Given the description of an element on the screen output the (x, y) to click on. 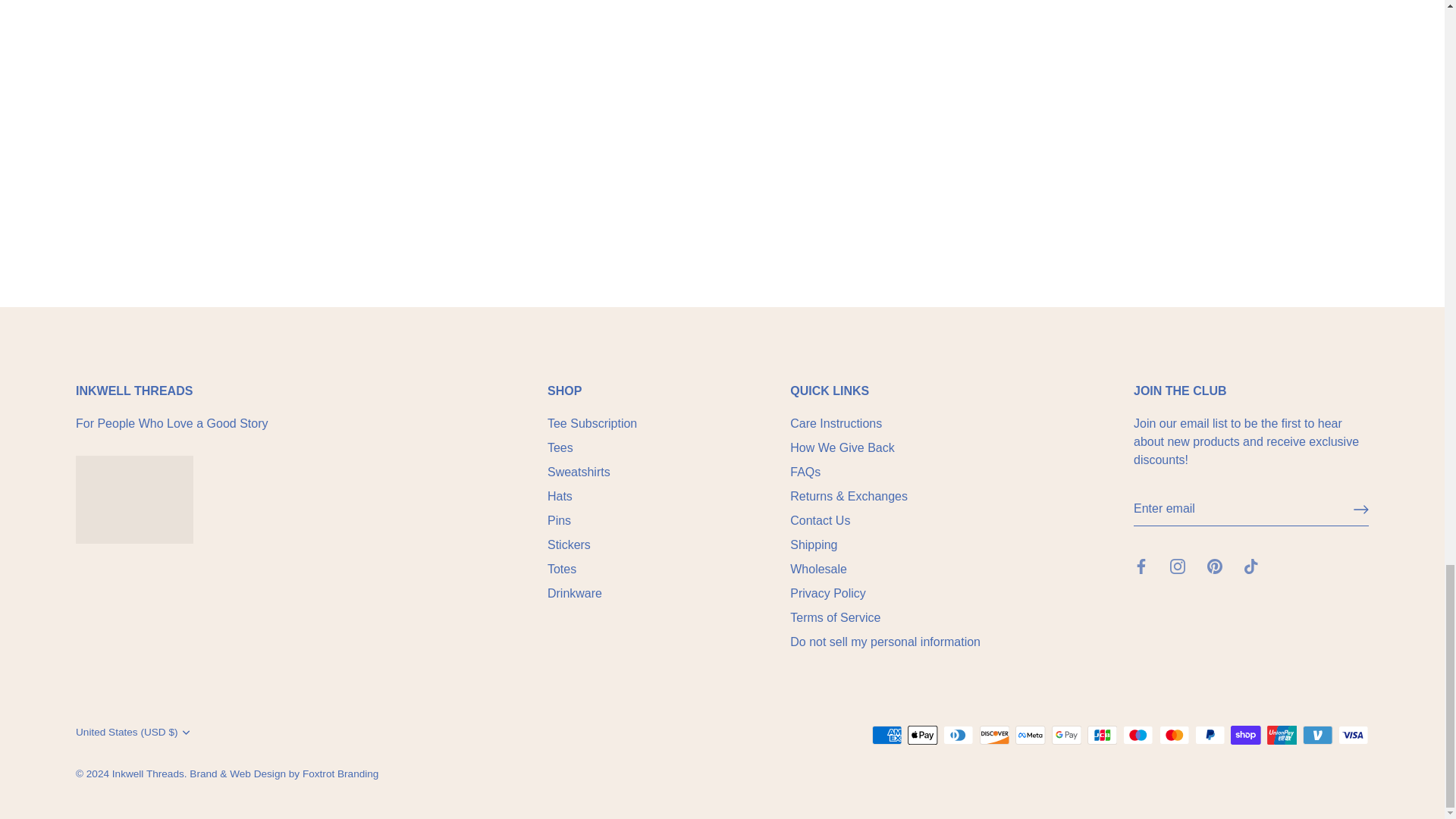
Maestro (1137, 734)
Discover (994, 734)
PayPal (1209, 734)
Instagram (1177, 566)
Venmo (1317, 734)
Shop Pay (1245, 734)
Union Pay (1281, 734)
Meta Pay (1029, 734)
Mastercard (1173, 734)
Pinterest (1215, 566)
Visa (1353, 734)
Diners Club (958, 734)
RIGHT ARROW LONG (1361, 508)
American Express (887, 734)
Google Pay (1066, 734)
